Given the description of an element on the screen output the (x, y) to click on. 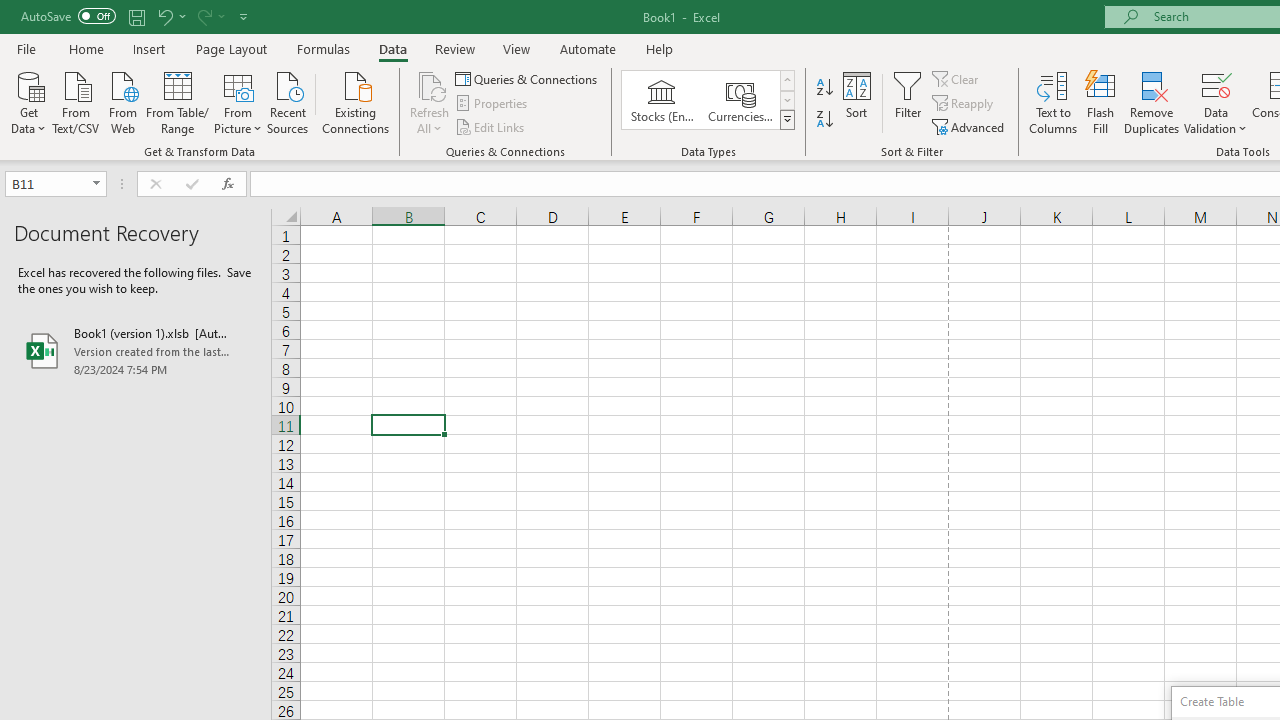
Existing Connections (355, 101)
Sort A to Z (824, 87)
Row up (786, 79)
Automate (588, 48)
From Picture (238, 101)
